Given the description of an element on the screen output the (x, y) to click on. 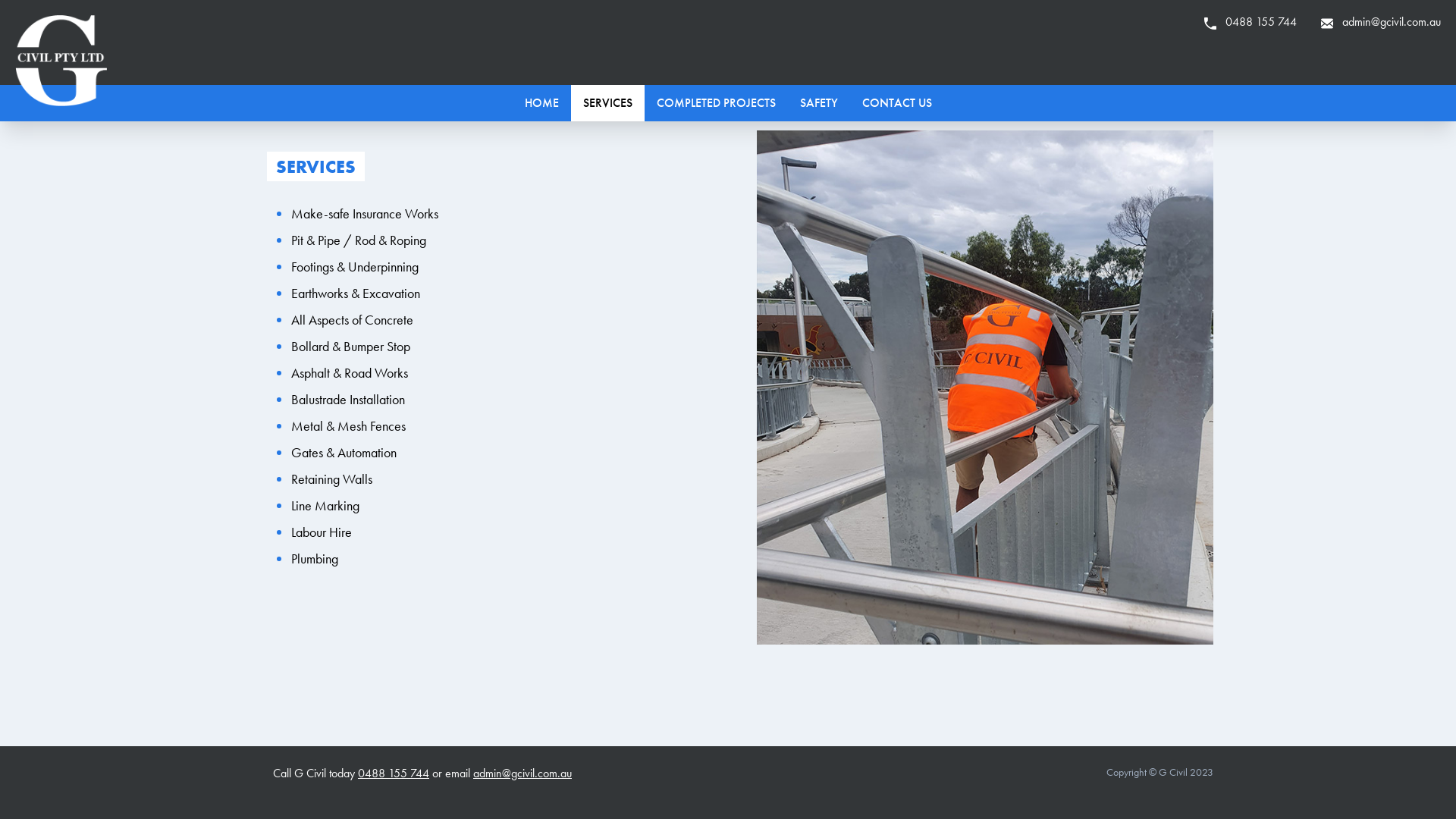
admin@gcivil.com.au Element type: text (522, 773)
0488 155 744 Element type: text (1250, 21)
0488 155 744 Element type: text (393, 773)
HOME Element type: text (541, 102)
admin@gcivil.com.au Element type: text (1380, 21)
CONTACT US Element type: text (896, 102)
SERVICES Element type: text (606, 102)
COMPLETED PROJECTS Element type: text (715, 102)
SAFETY Element type: text (818, 102)
